Given the description of an element on the screen output the (x, y) to click on. 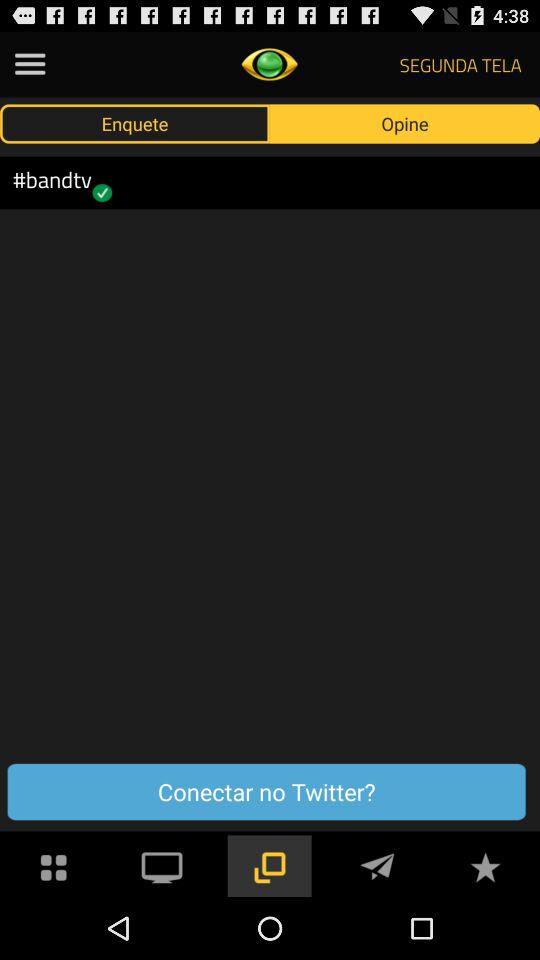
send an email (377, 865)
